Given the description of an element on the screen output the (x, y) to click on. 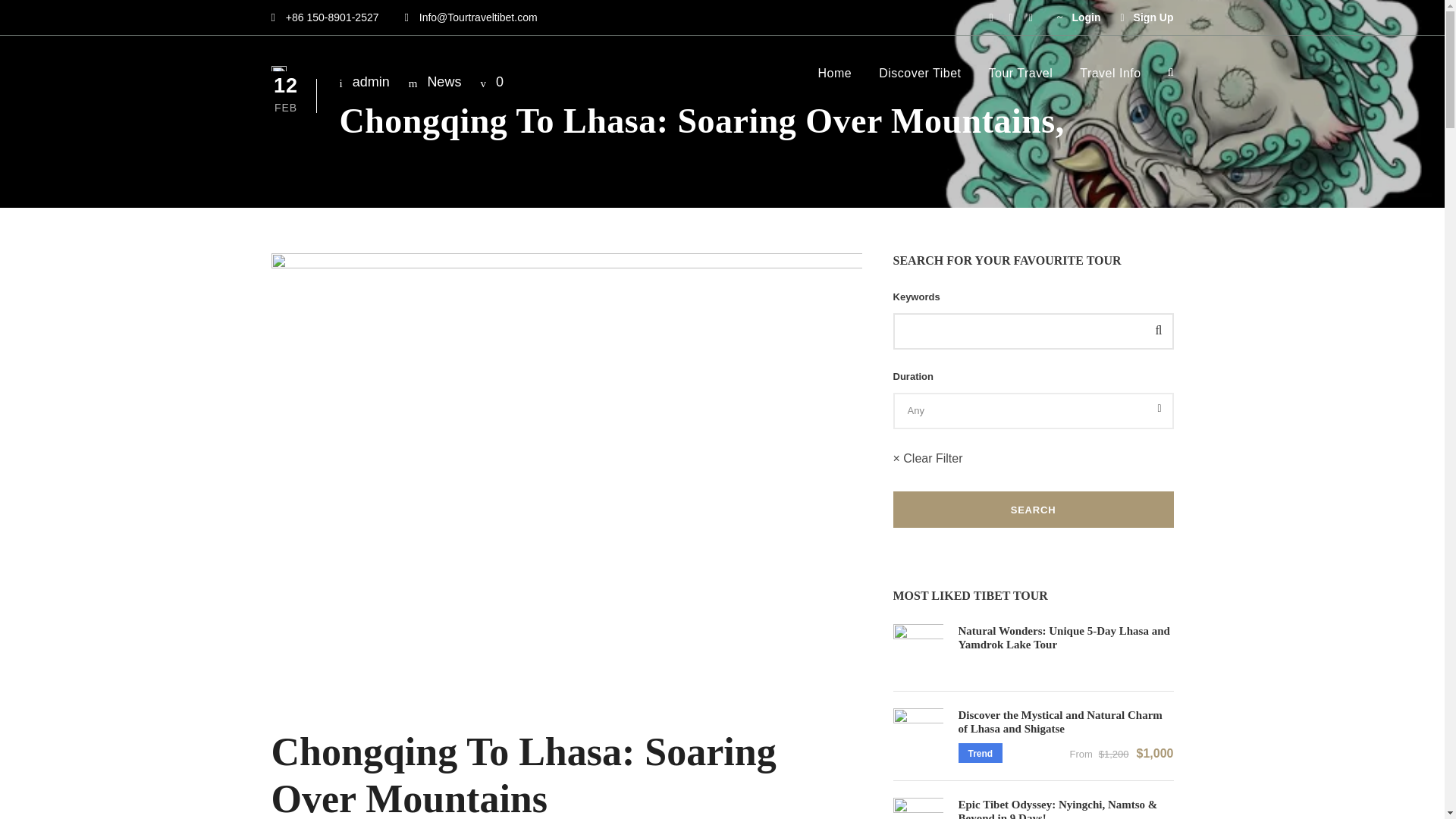
Search (1033, 509)
New Logo (278, 68)
Home (833, 80)
Discover Tibet (919, 80)
Search (1033, 509)
